Given the description of an element on the screen output the (x, y) to click on. 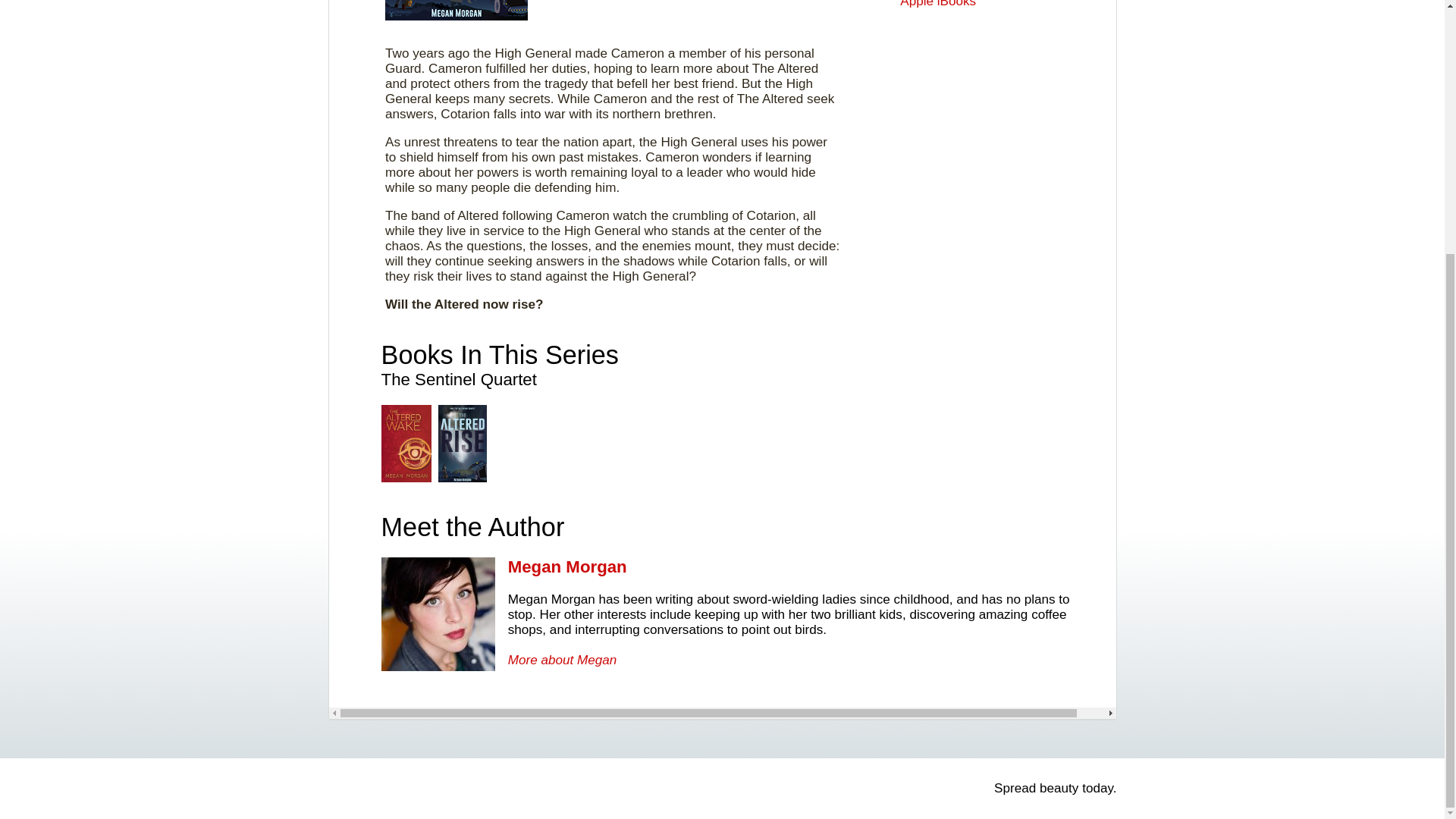
More about Megan (562, 659)
Megan Morgan (737, 581)
Apple iBooks (937, 4)
